Given the description of an element on the screen output the (x, y) to click on. 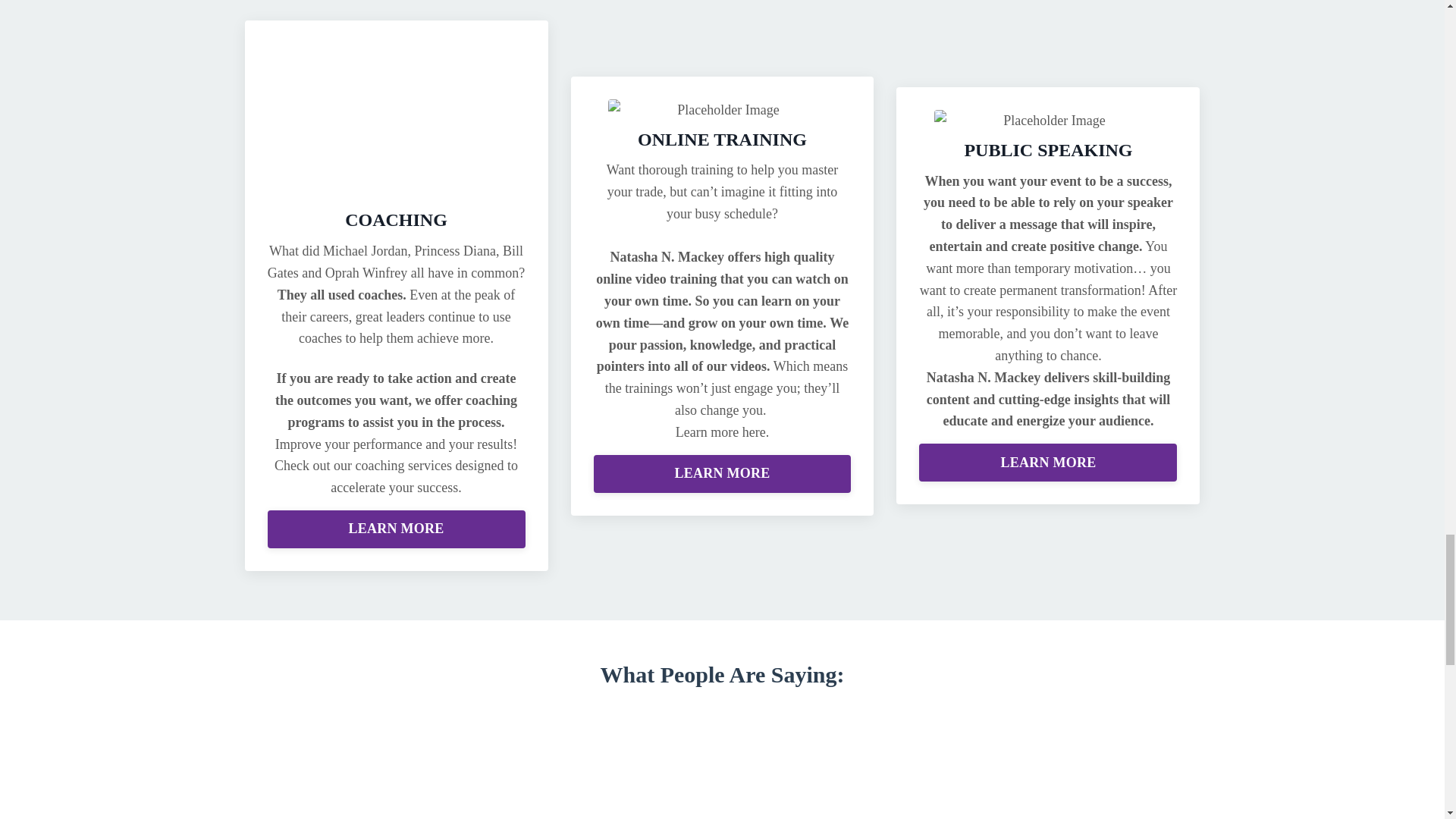
LEARN MORE (721, 474)
LEARN MORE (396, 528)
LEARN MORE (1047, 462)
